Given the description of an element on the screen output the (x, y) to click on. 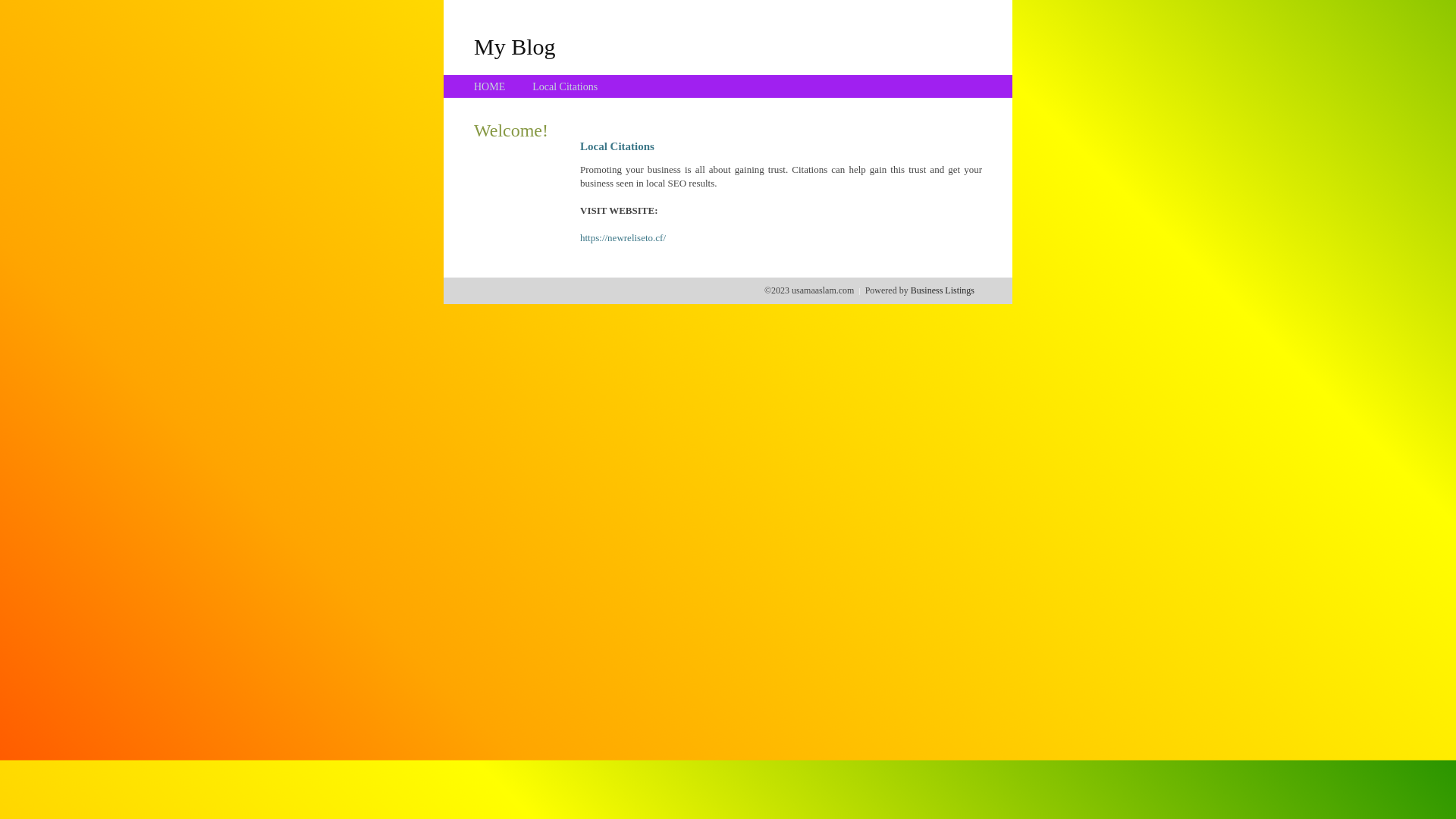
HOME Element type: text (489, 86)
https://newreliseto.cf/ Element type: text (622, 237)
Business Listings Element type: text (942, 290)
Local Citations Element type: text (564, 86)
My Blog Element type: text (514, 46)
